Given the description of an element on the screen output the (x, y) to click on. 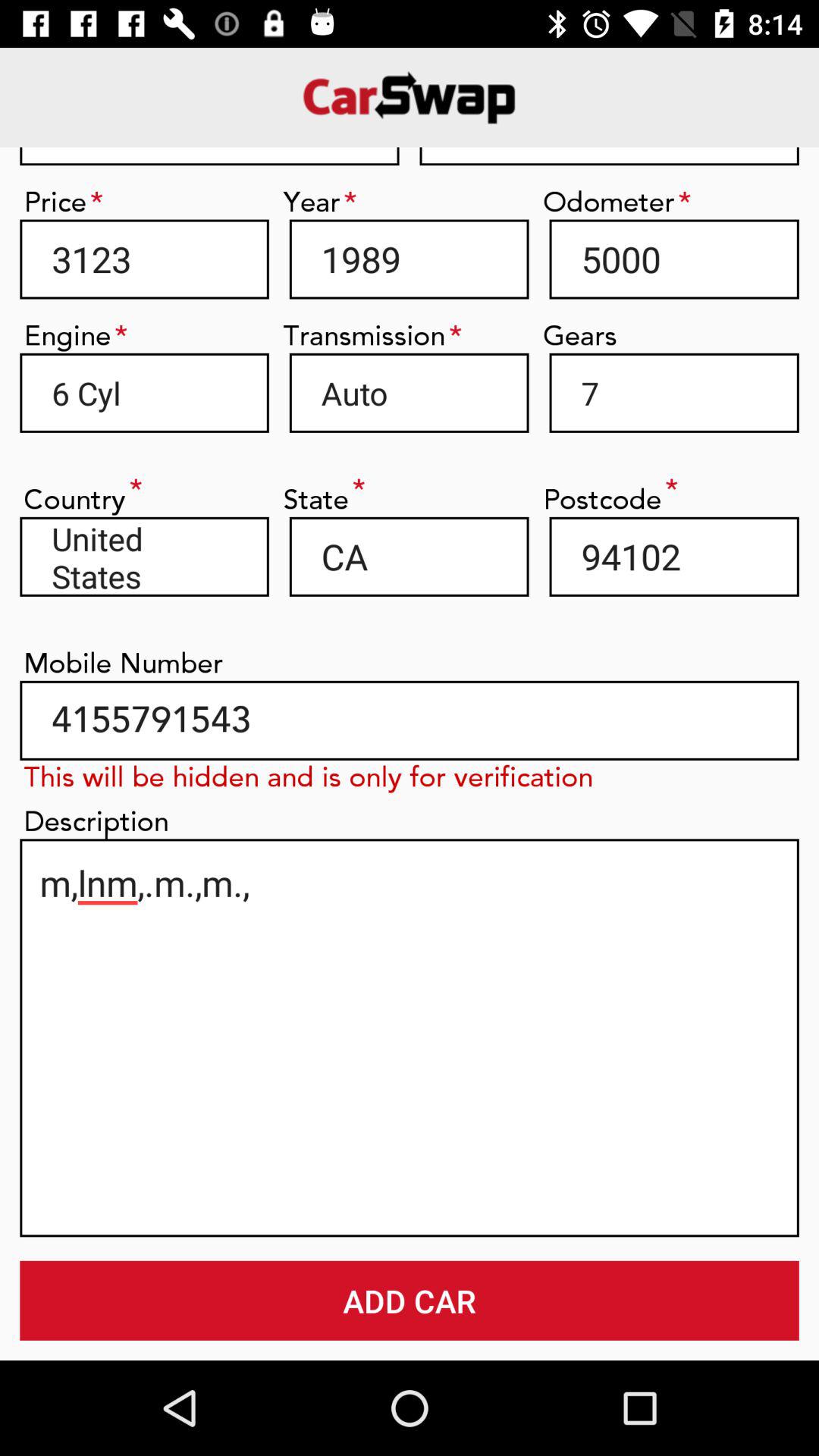
tap the icon above gears item (674, 259)
